Given the description of an element on the screen output the (x, y) to click on. 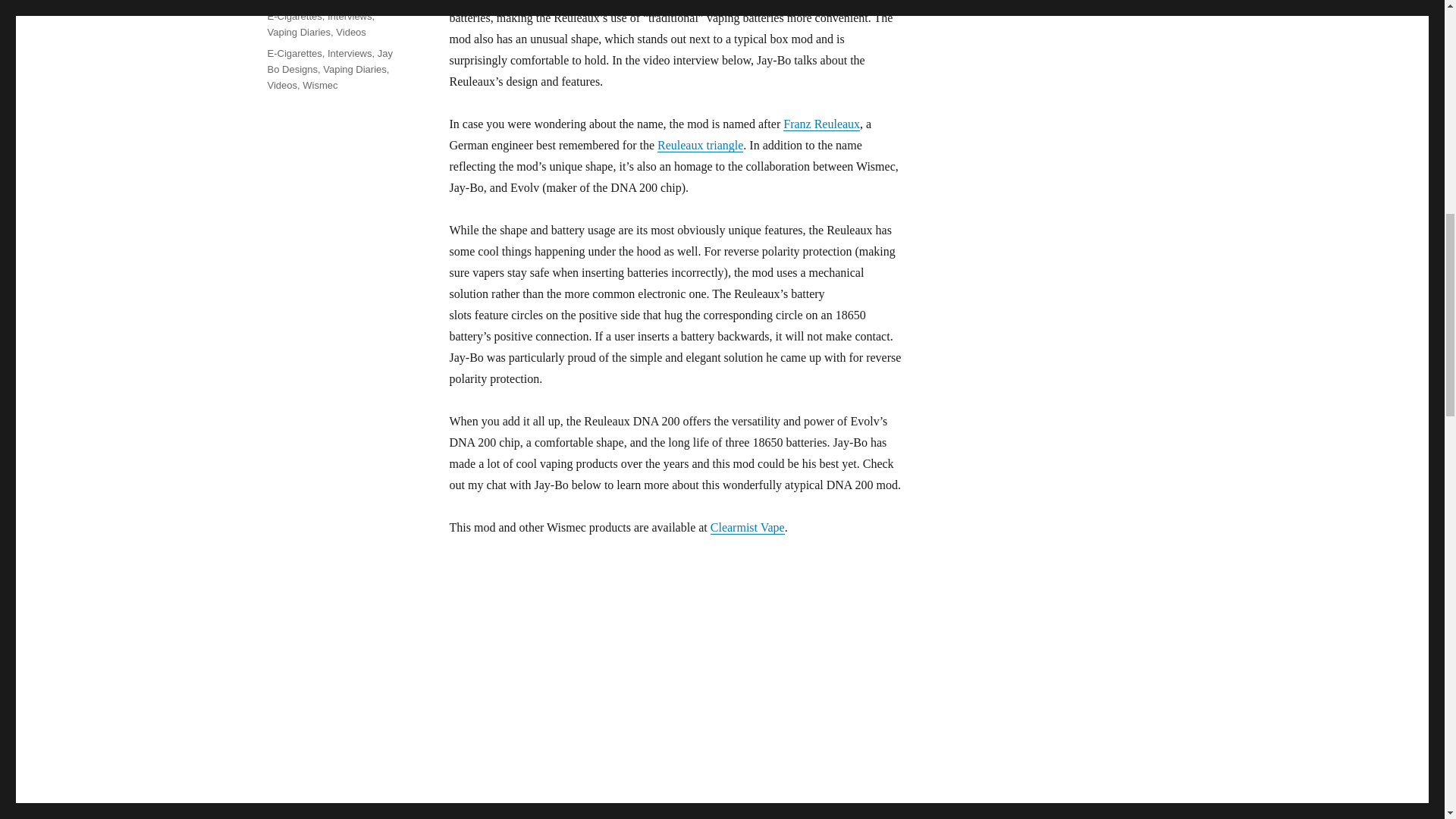
Interviews (349, 52)
E-Cigarettes (293, 52)
Videos (281, 84)
Interviews (349, 16)
18650 batteries (558, 1)
Videos (351, 31)
Vaping Diaries (298, 31)
Reuleaux triangle (700, 144)
Clearmist Vape (747, 526)
Wismec (319, 84)
E-Cigarettes (293, 16)
Vaping Diaries (355, 69)
Jay Bo Designs (328, 61)
Franz Reuleaux (821, 123)
